Given the description of an element on the screen output the (x, y) to click on. 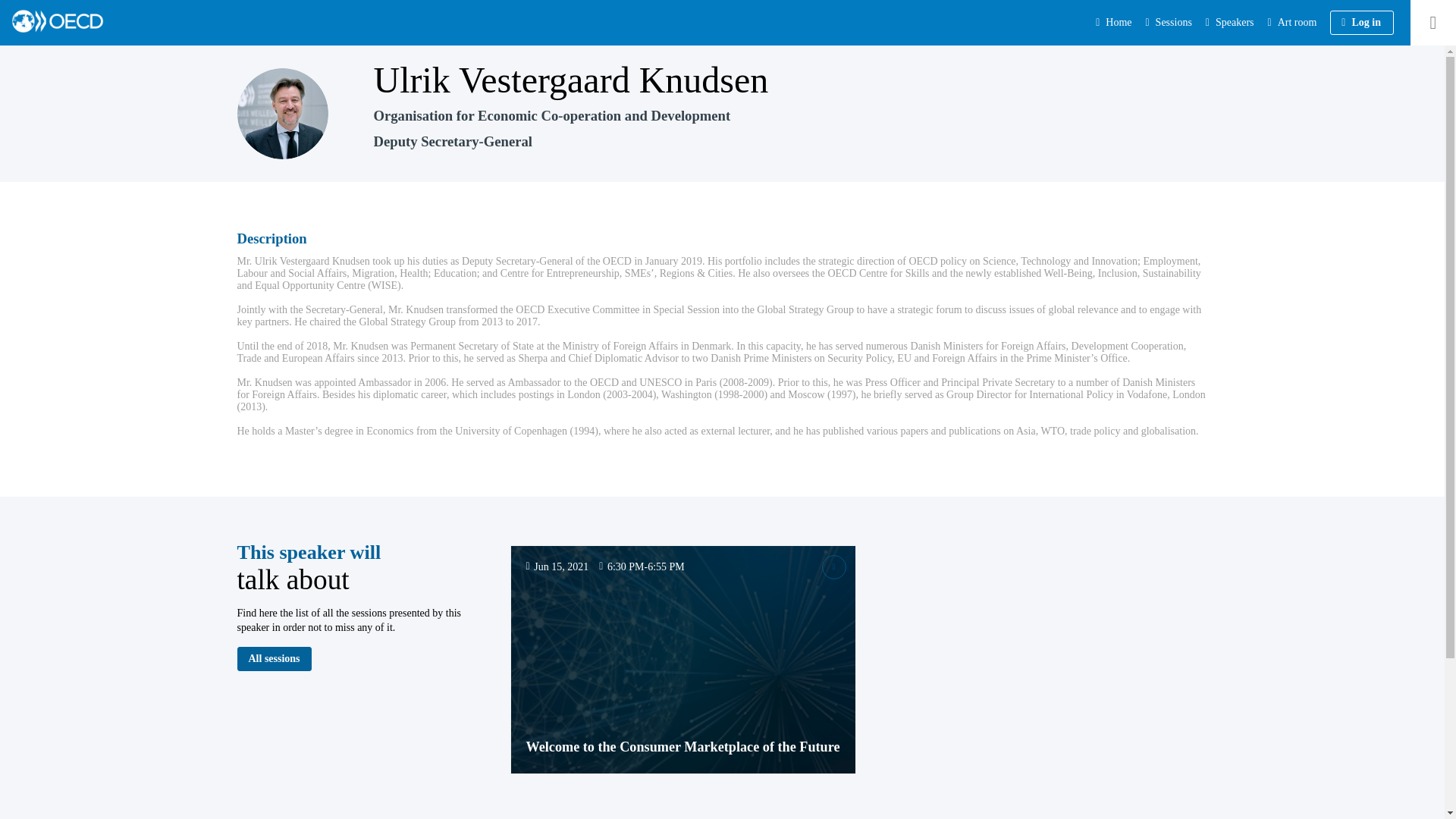
Art room (1293, 22)
Sessions (1168, 22)
Speakers (1230, 22)
Log in (1361, 22)
Evaluate (833, 567)
Home (1114, 22)
All sessions (273, 658)
